Given the description of an element on the screen output the (x, y) to click on. 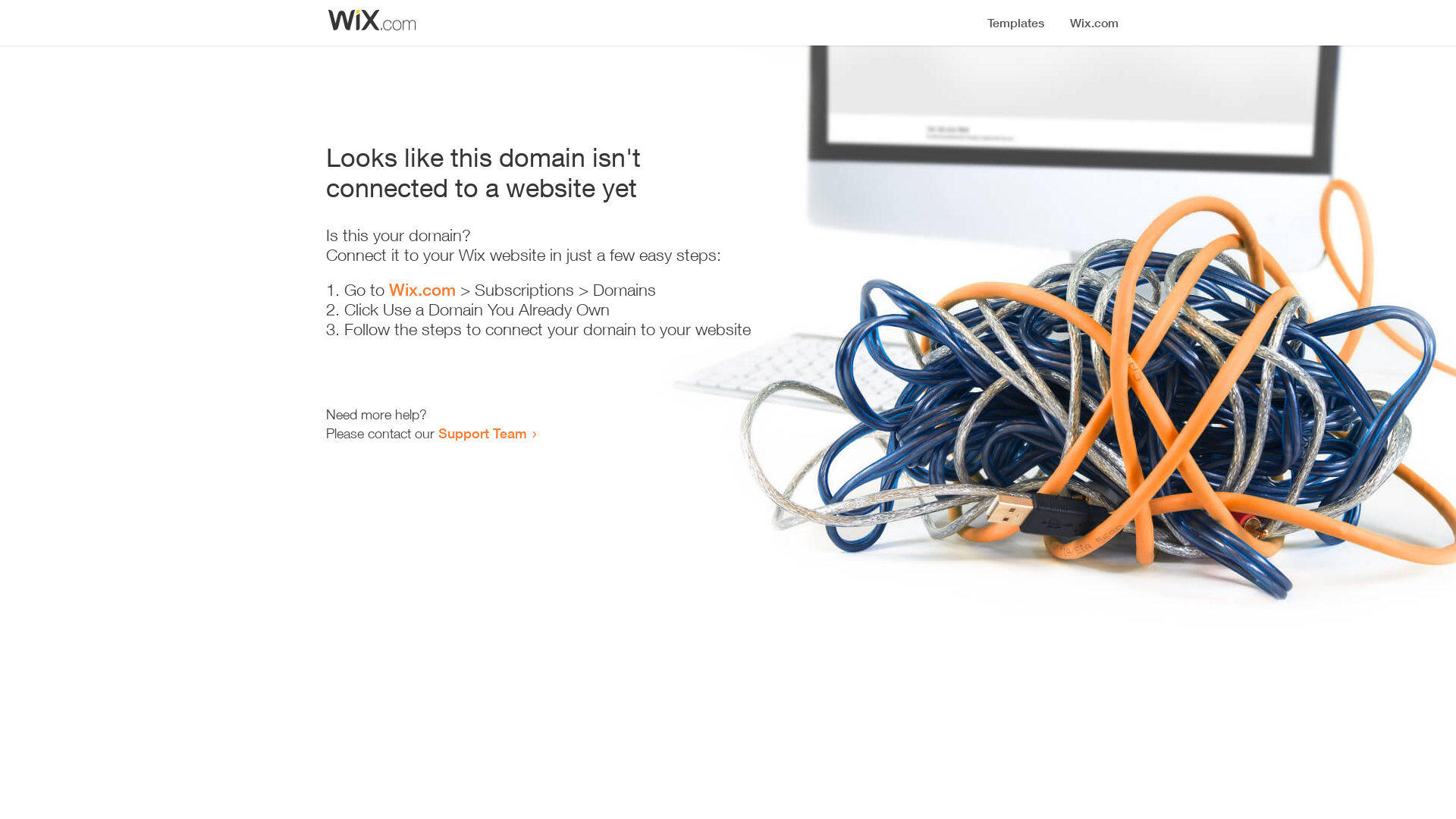
Support Team Element type: text (482, 432)
Wix.com Element type: text (422, 289)
